Given the description of an element on the screen output the (x, y) to click on. 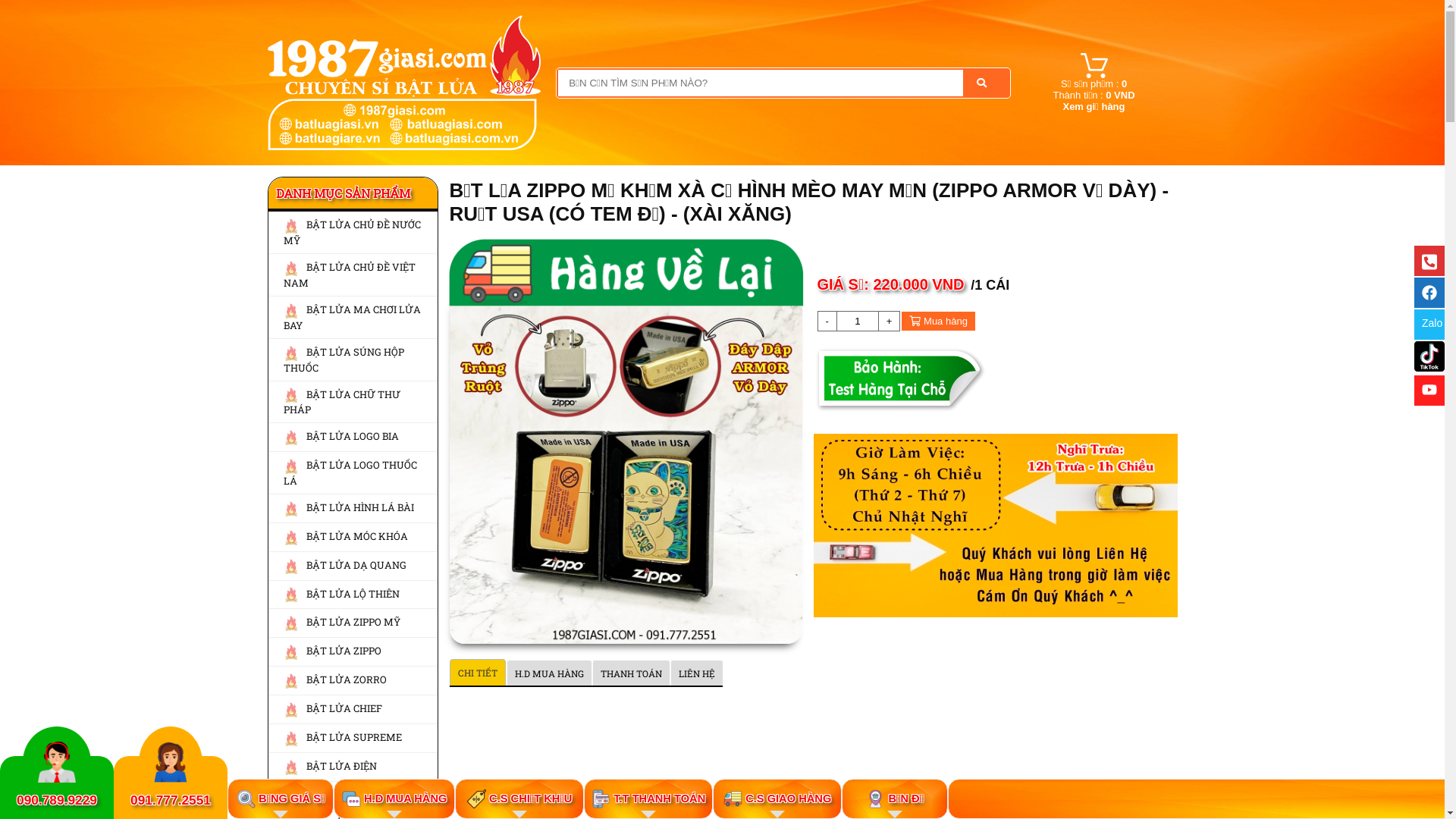
+ Element type: text (889, 320)
- Element type: text (826, 320)
0917772551 Element type: hover (170, 761)
Zalo Element type: text (1429, 324)
091.777.2551 Element type: text (170, 799)
090.789.9229 Element type: text (56, 798)
0907899229 Element type: hover (56, 761)
